Given the description of an element on the screen output the (x, y) to click on. 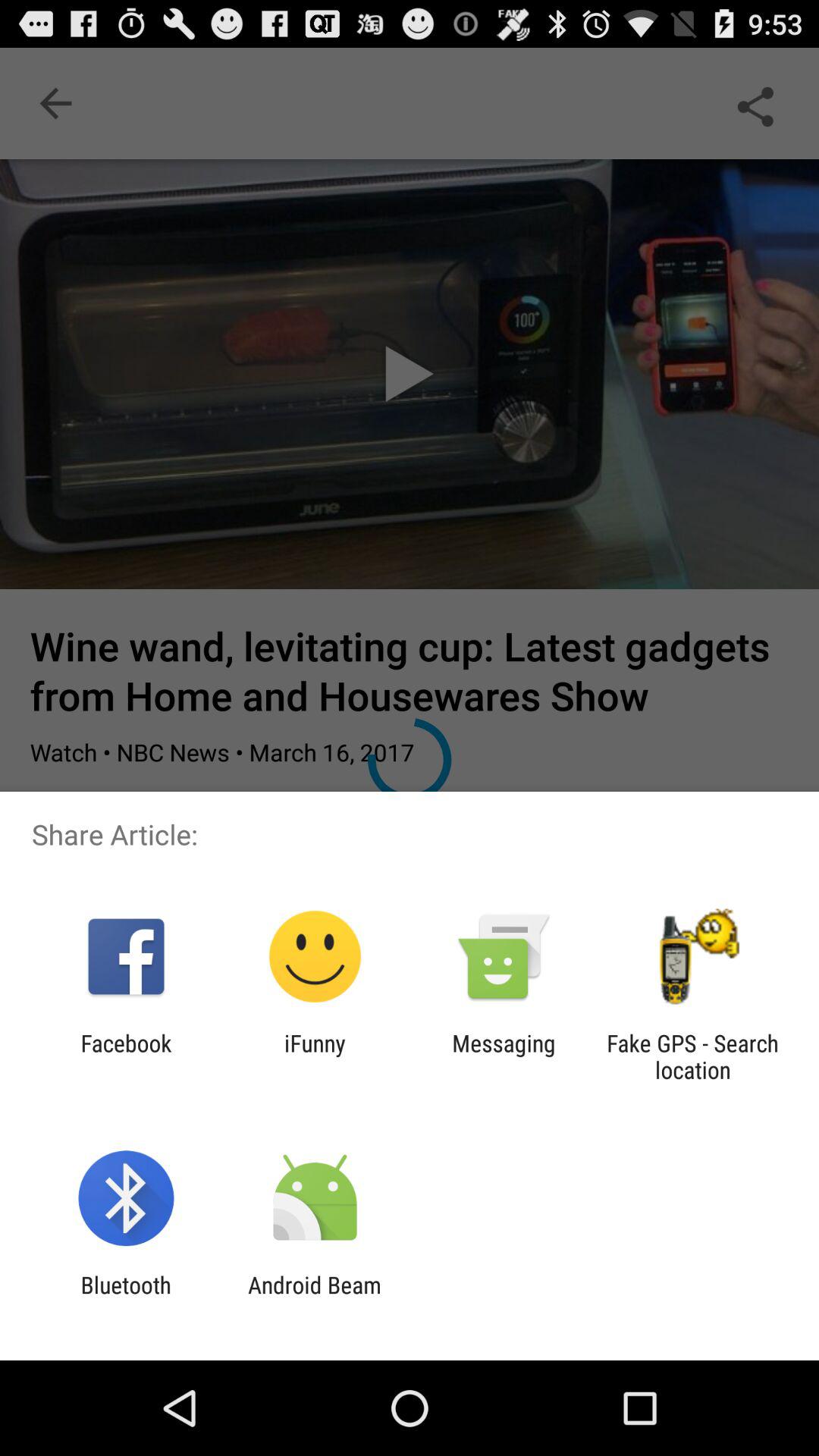
press item to the left of the ifunny app (125, 1056)
